Given the description of an element on the screen output the (x, y) to click on. 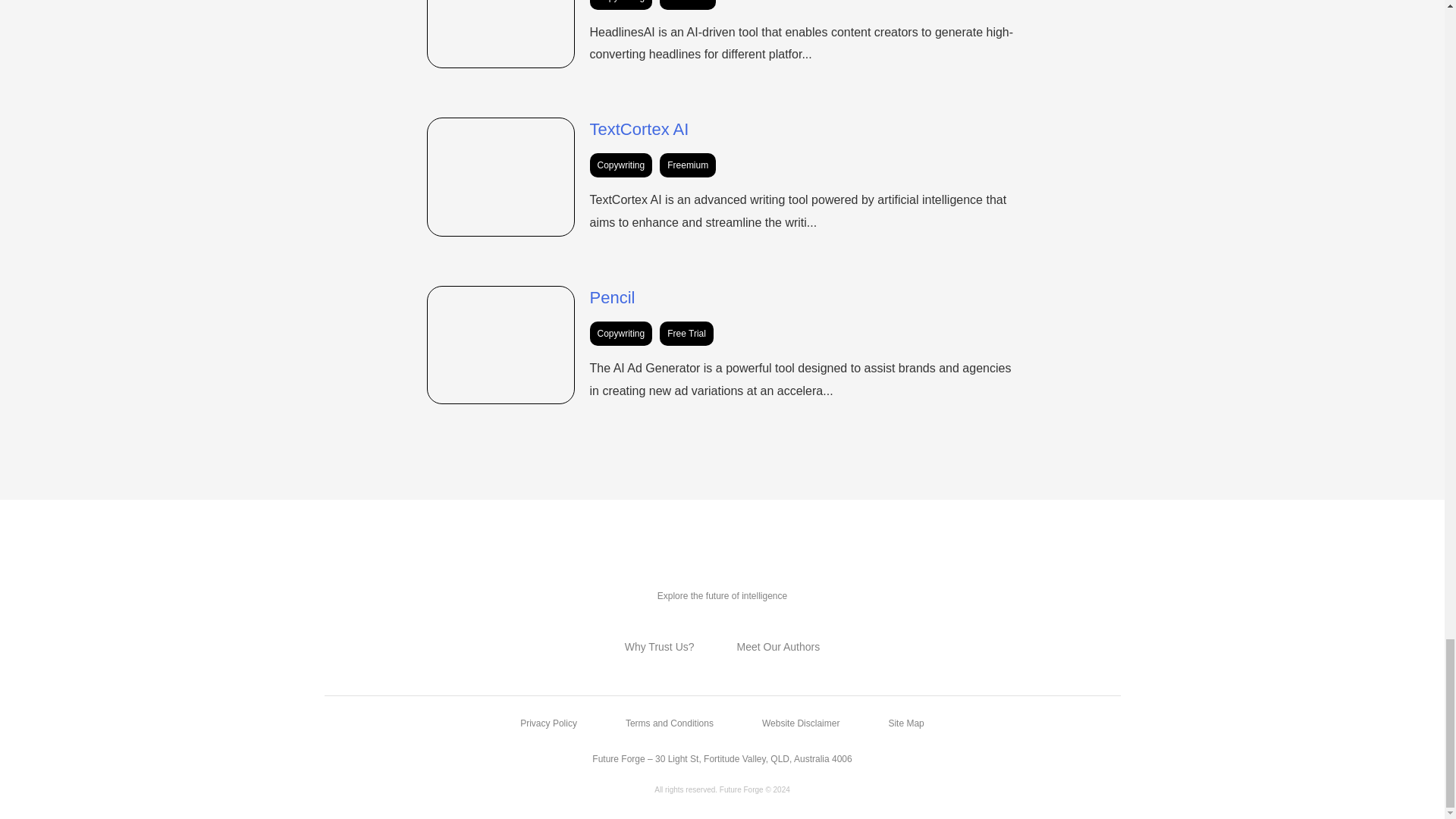
TextCortex AI (638, 128)
Privacy Policy (547, 723)
Site Map (905, 723)
Terms and Conditions (669, 723)
Website Disclaimer (800, 723)
Pencil (611, 297)
Why Trust Us? (659, 646)
Meet Our Authors (778, 646)
